Given the description of an element on the screen output the (x, y) to click on. 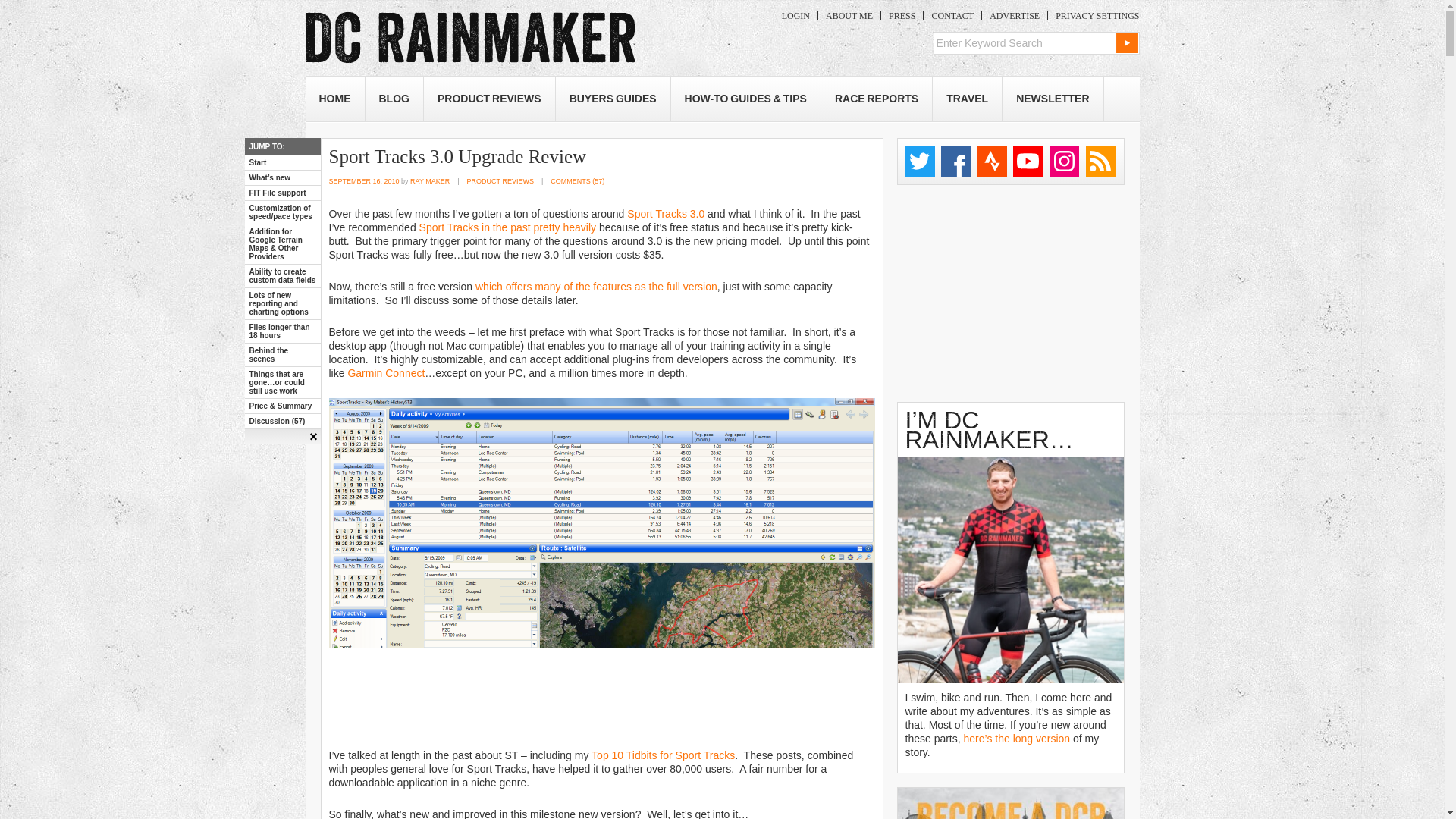
PRESS (901, 15)
HOME (334, 98)
BLOG (394, 98)
Posts by Ray Maker (429, 181)
PRIVACY SETTINGS (1093, 15)
PRODUCT REVIEWS (488, 98)
LOGIN (795, 15)
ADVERTISE (1013, 15)
Search (1127, 43)
ABOUT ME (849, 15)
5:23 am (363, 181)
CONTACT (952, 15)
BUYERS GUIDES (612, 98)
Search (1127, 43)
